Given the description of an element on the screen output the (x, y) to click on. 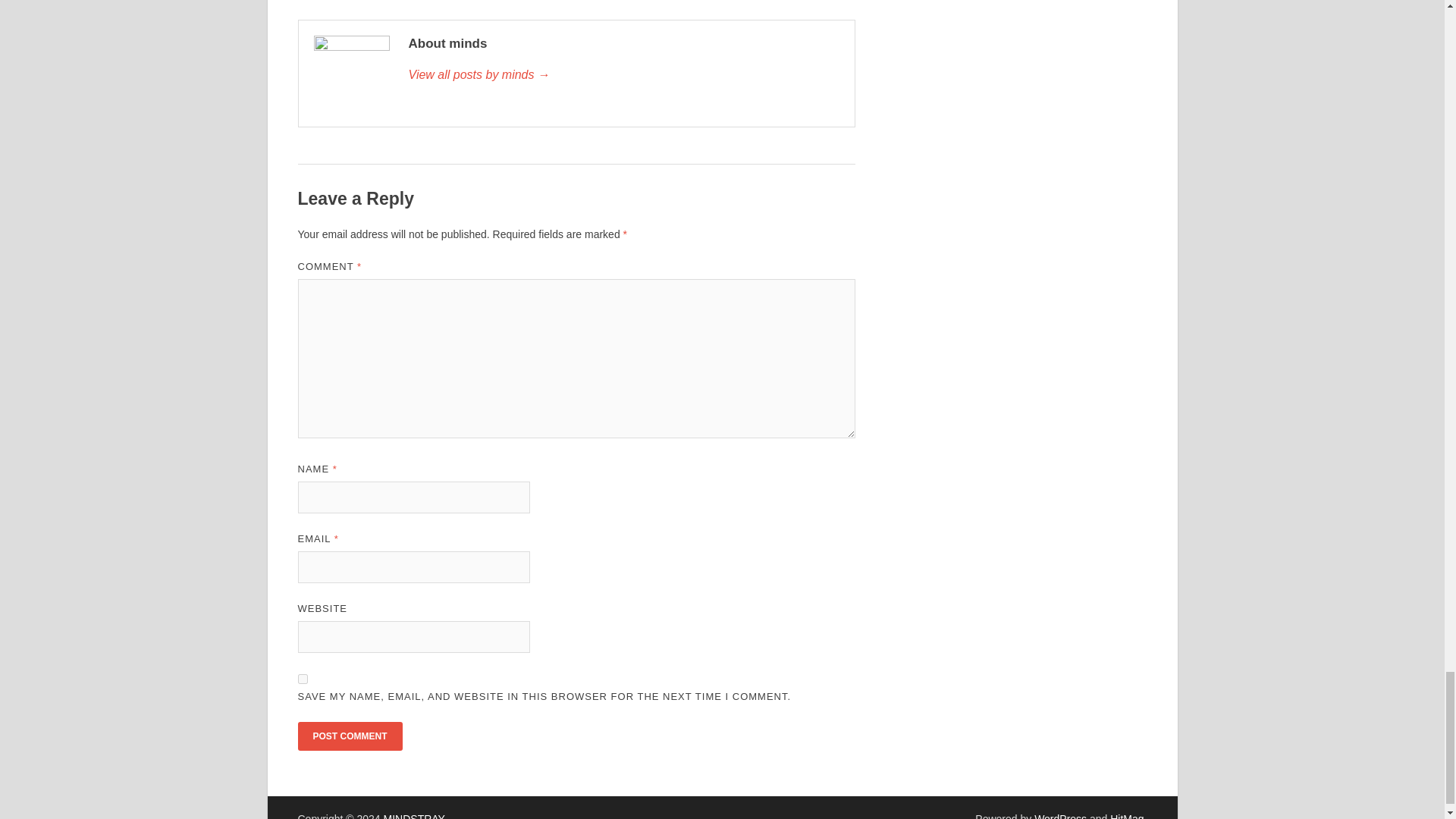
Post Comment (349, 736)
yes (302, 678)
minds (622, 75)
